Given the description of an element on the screen output the (x, y) to click on. 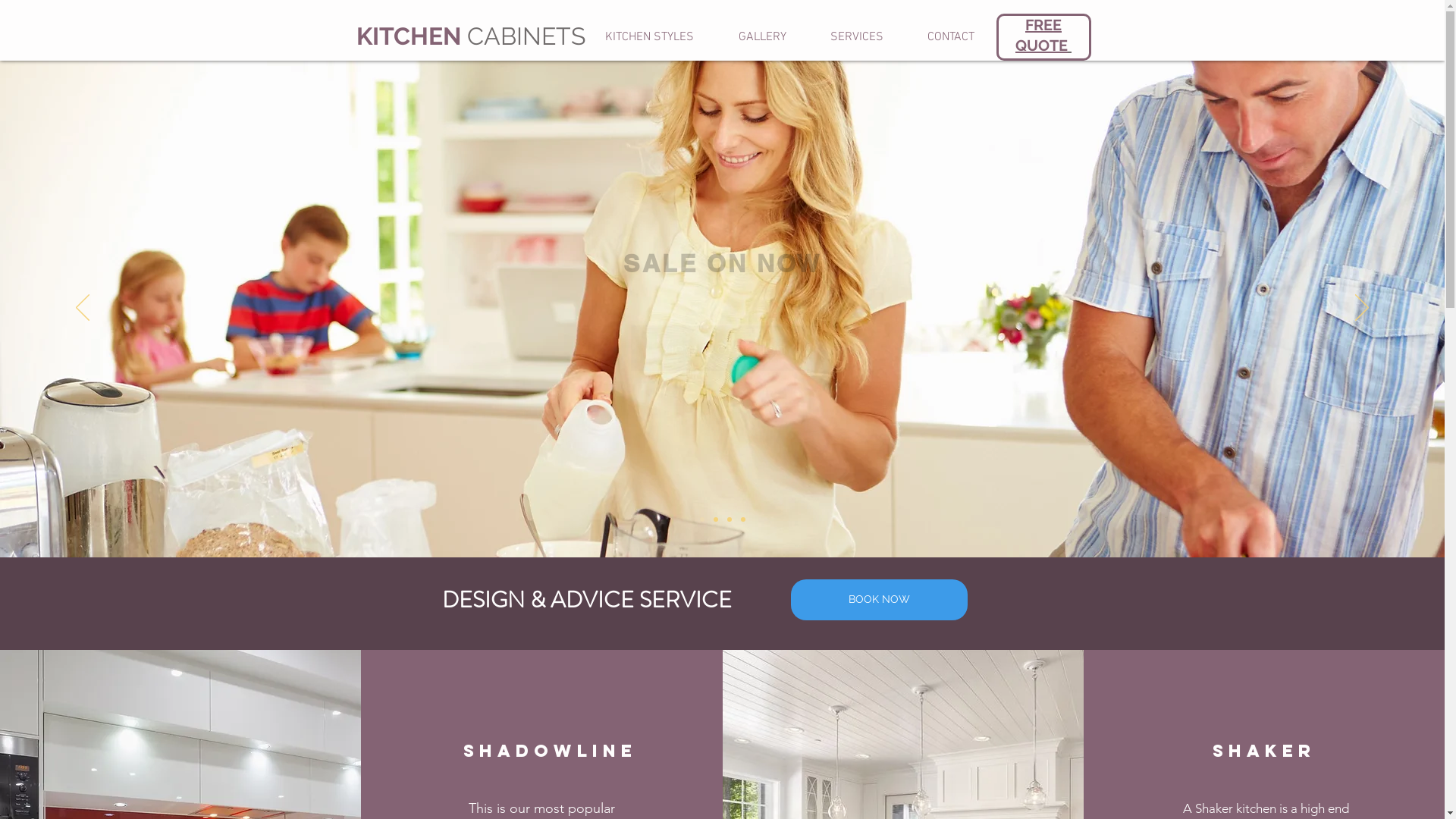
GALLERY Element type: text (761, 36)
FREE QUOTE  Element type: text (1043, 34)
BOOK NOW Element type: text (878, 599)
KITCHEN CABINETS Element type: text (470, 35)
CONTACT Element type: text (950, 36)
View Collection Element type: text (721, 347)
KITCHEN STYLES Element type: text (648, 36)
SERVICES Element type: text (856, 36)
